Given the description of an element on the screen output the (x, y) to click on. 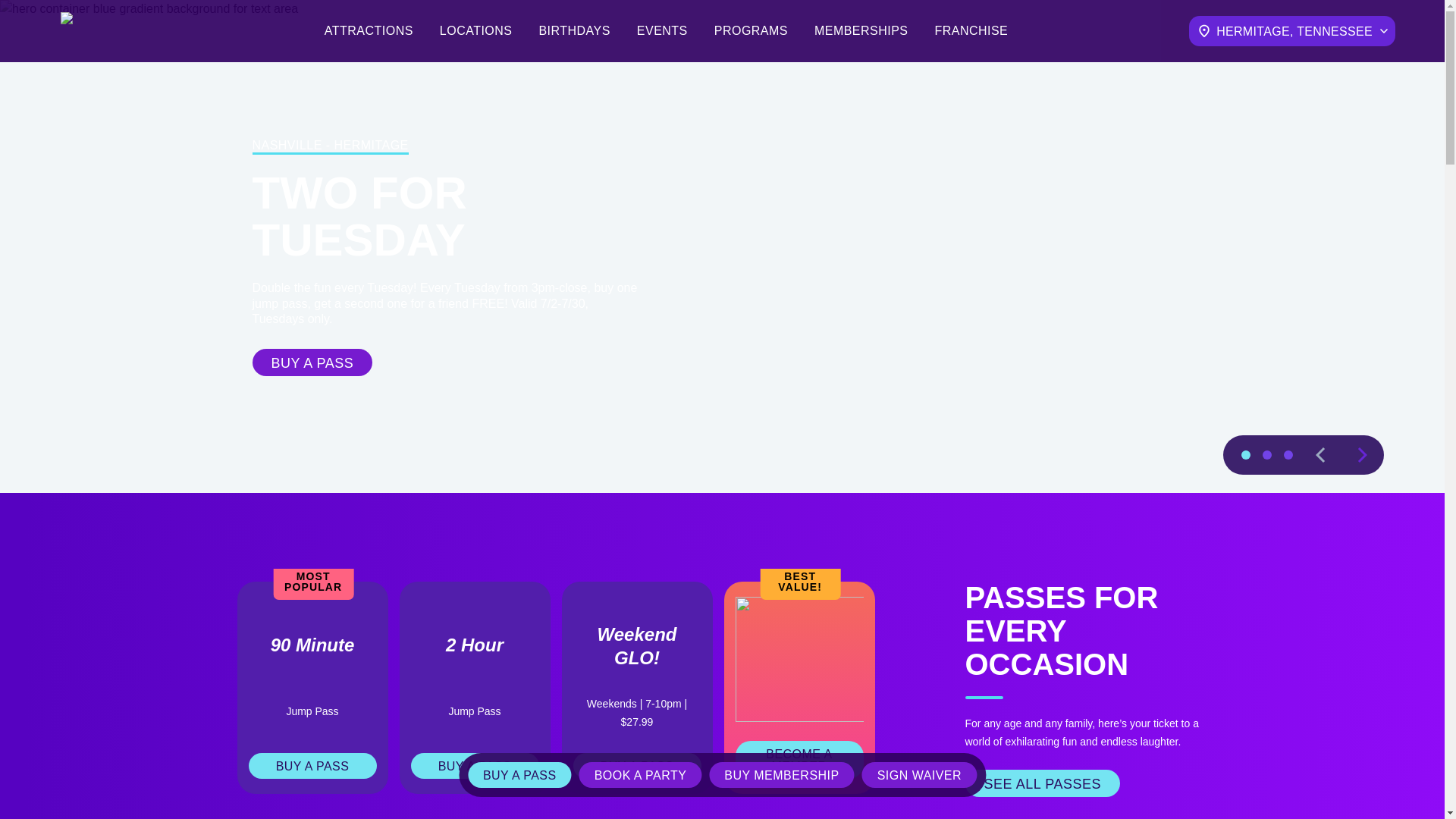
BUY A PASS (307, 765)
BECOME A MEMBER (793, 759)
ATTRACTIONS (367, 30)
FRANCHISE (979, 30)
BIRTHDAYS (572, 30)
BUY A PASS (544, 361)
EVENTS (659, 30)
SEE ALL PASSES (1037, 782)
MEMBERSHIPS (863, 30)
PROGRAMS (750, 30)
LOCATIONS (474, 30)
BUY A PASS (468, 765)
BUY A PASS (631, 765)
